Given the description of an element on the screen output the (x, y) to click on. 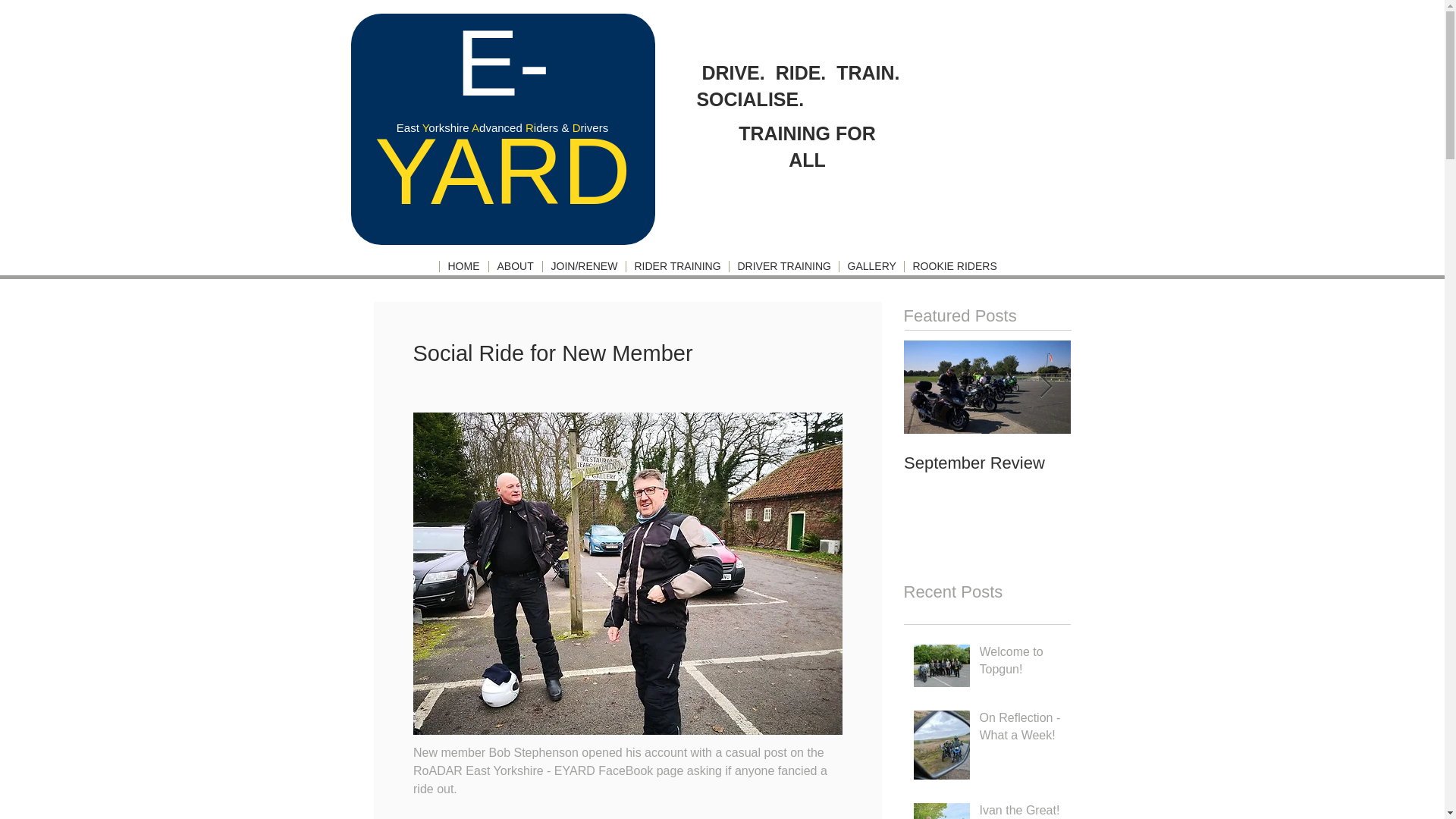
On Reflection - What a Week! (1020, 730)
September Review (1153, 463)
Ivan the Great! (1020, 810)
September Review (987, 447)
HOME (987, 463)
RIDER TRAINING (462, 266)
ABOUT (676, 266)
Welcome to Topgun! (514, 266)
DRIVER TRAINING (1020, 663)
ROOKIE RIDERS (987, 447)
